Given the description of an element on the screen output the (x, y) to click on. 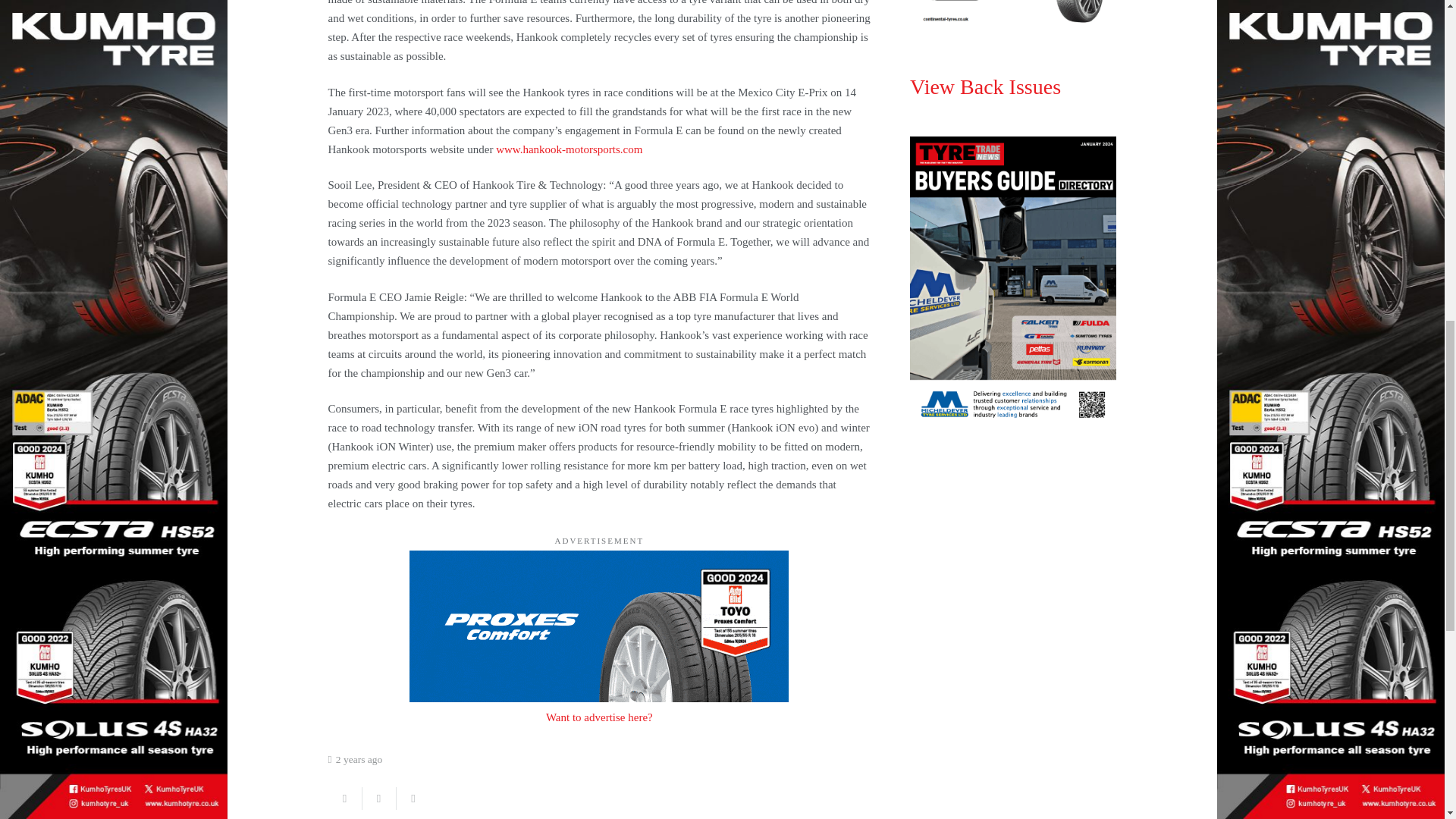
Back to top (1413, 26)
Share this (344, 798)
Want to advertise here? (599, 717)
Share this (412, 798)
Latest Issue (1013, 15)
Tweet this (379, 798)
www.hankook-motorsports.com (569, 149)
View Back Issues (985, 86)
